Given the description of an element on the screen output the (x, y) to click on. 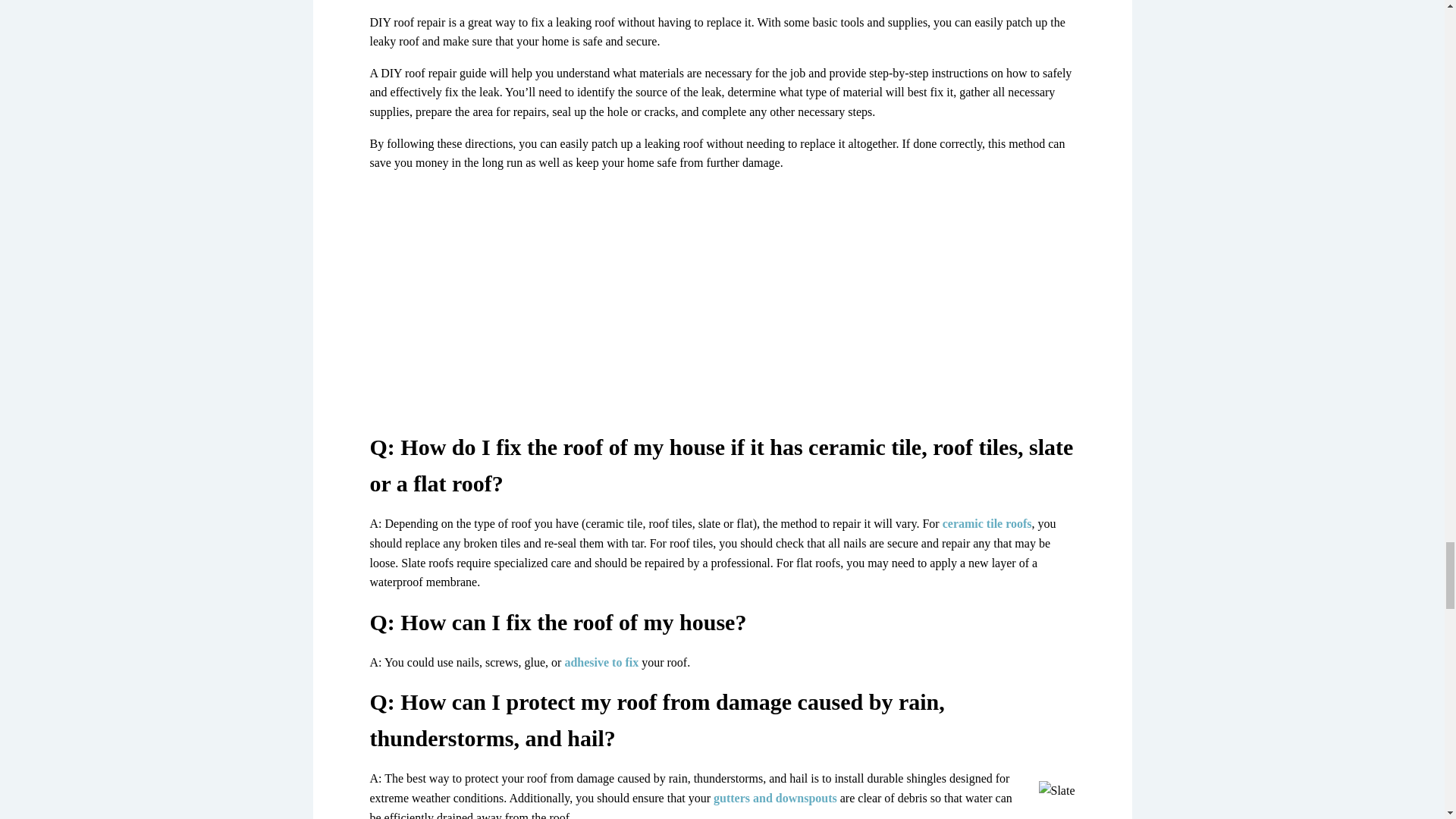
adhesive to fix (601, 662)
YouTube video player (721, 304)
ceramic tile roofs (987, 522)
gutters and downspouts (775, 797)
